Given the description of an element on the screen output the (x, y) to click on. 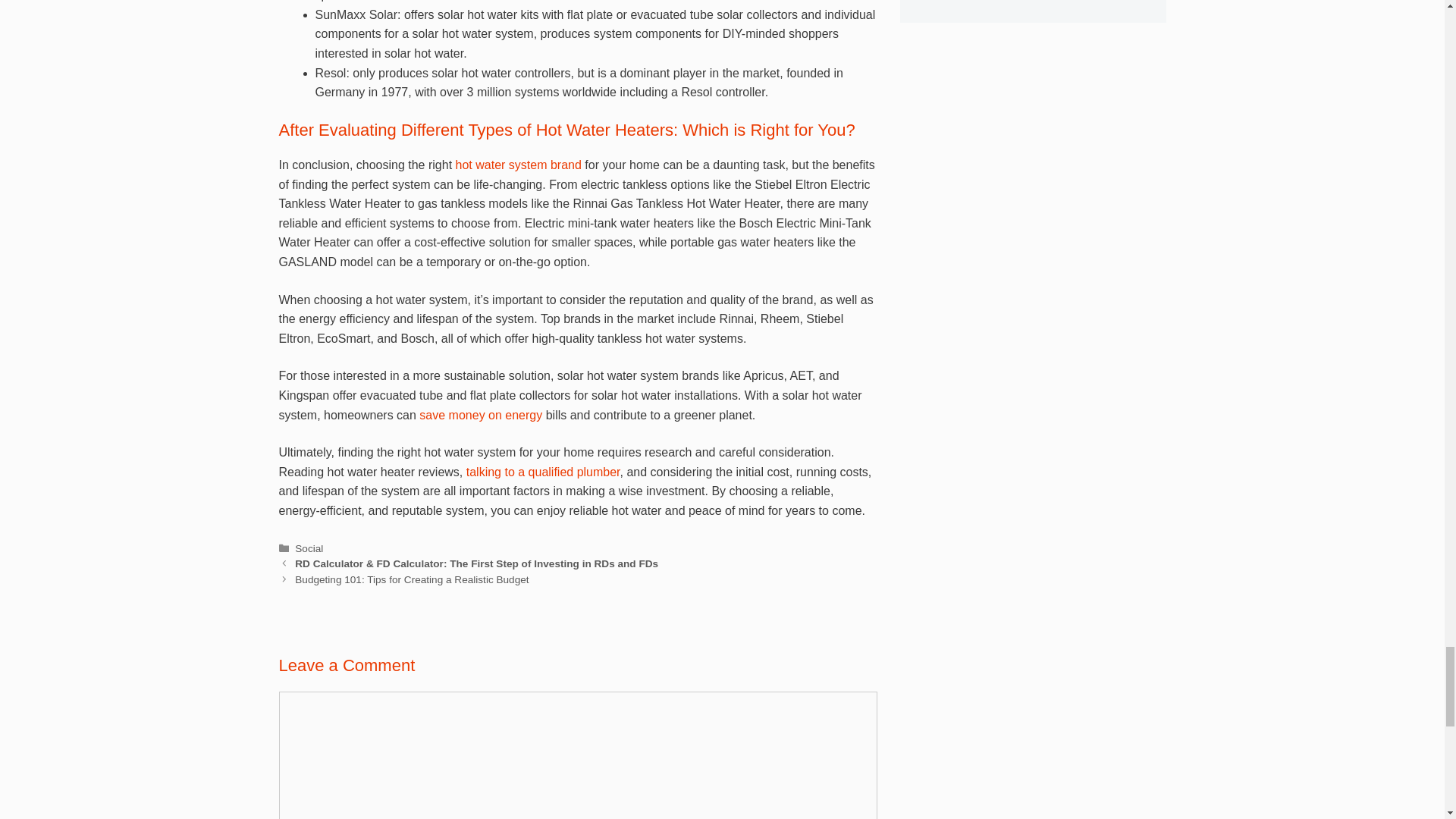
save money on energy (480, 414)
Social (309, 548)
hot water system brand (515, 164)
talking to a qualified plumber (542, 472)
Budgeting 101: Tips for Creating a Realistic Budget (411, 579)
